Given the description of an element on the screen output the (x, y) to click on. 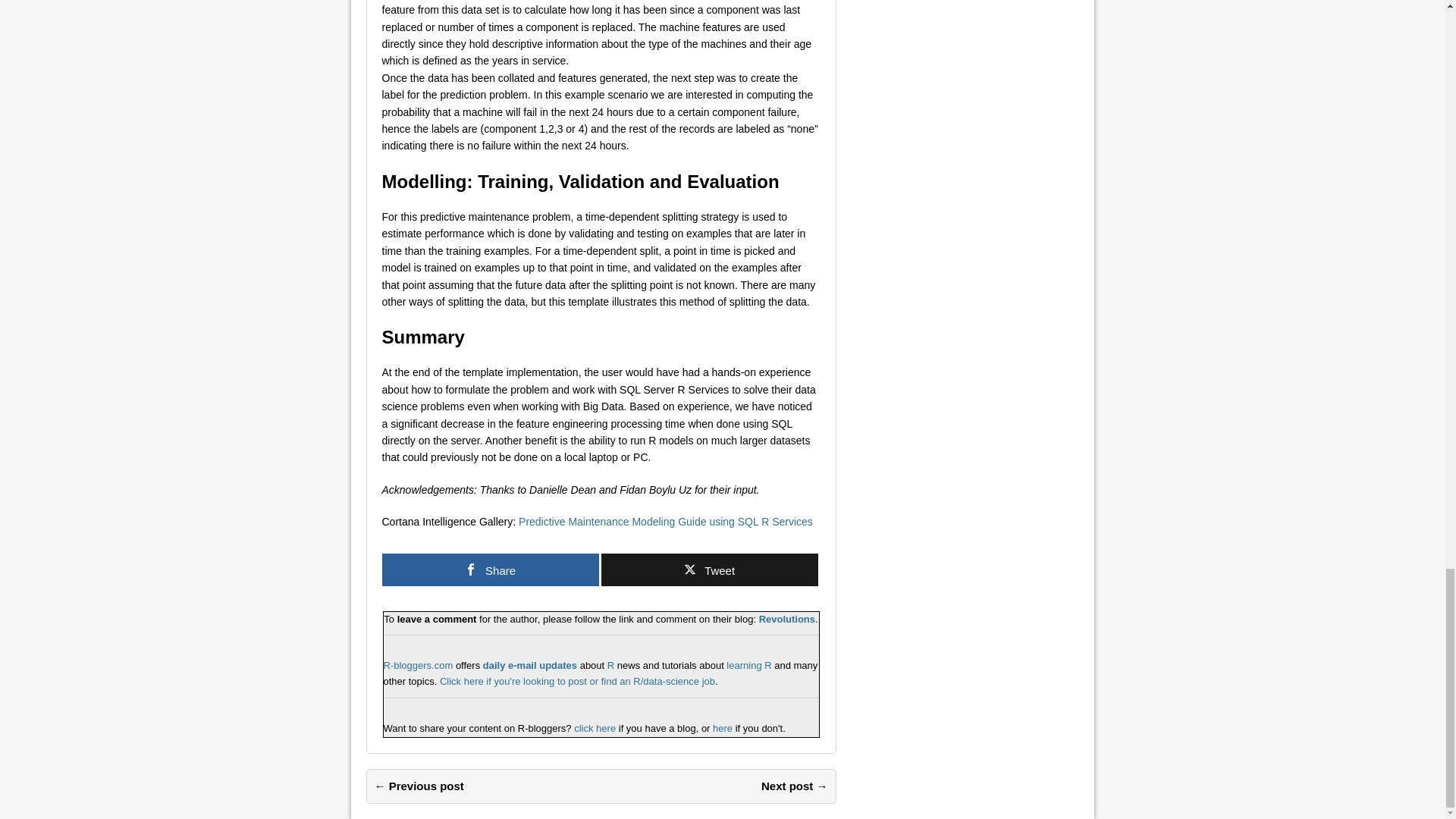
daily e-mail updates (529, 665)
Data science jobs (576, 681)
Predictive Maintenance Modeling Guide using SQL R Services (665, 521)
R-bloggers.com (418, 665)
Revolutions (786, 618)
The R Project for Statistical Computing (610, 665)
R tutorials (748, 665)
Share (489, 569)
R (610, 665)
Tweet (707, 569)
